Given the description of an element on the screen output the (x, y) to click on. 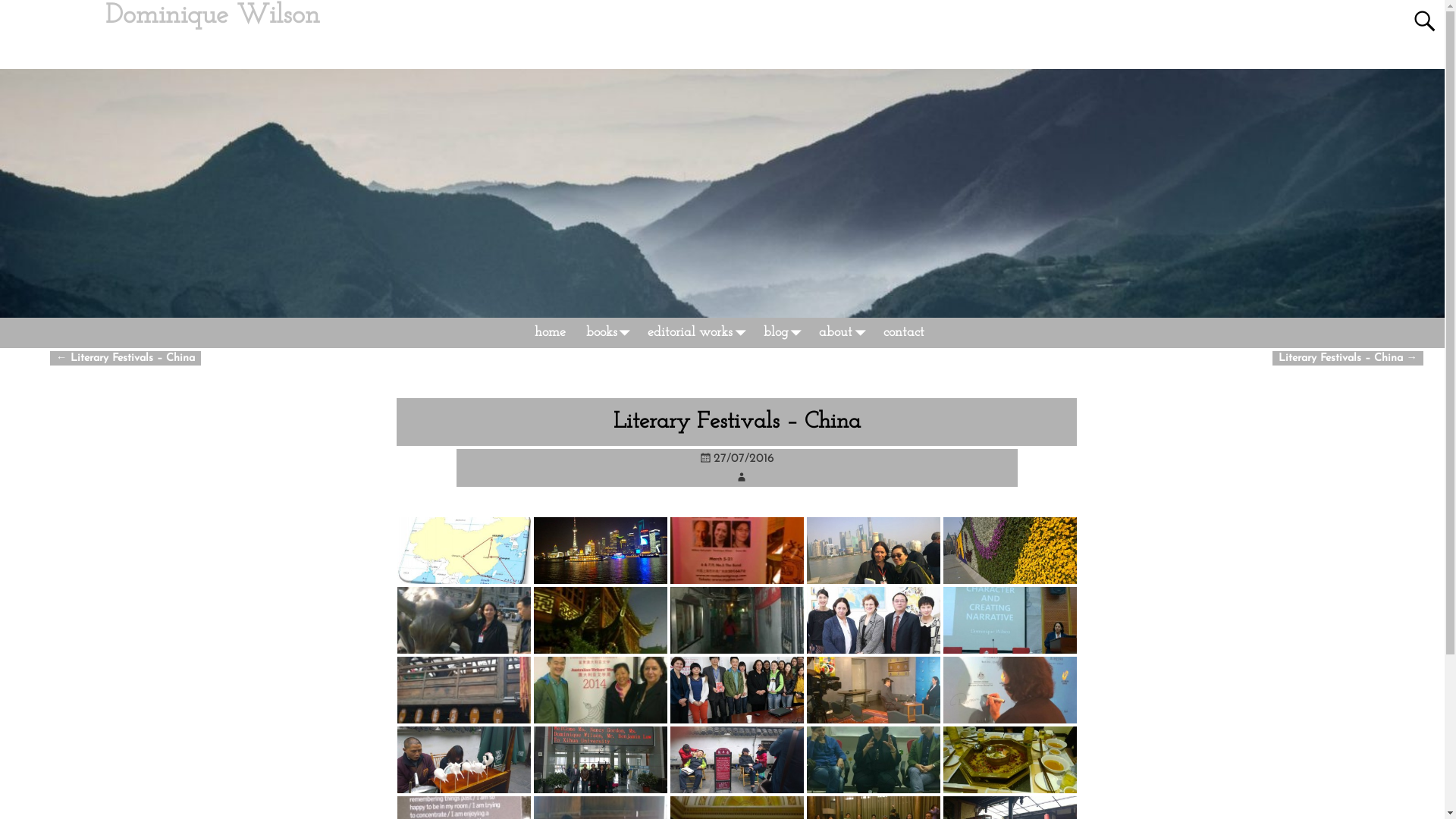
27/07/2016 Element type: text (737, 458)
editorial works Element type: text (695, 332)
blog Element type: text (781, 332)
contact Element type: text (903, 332)
home Element type: text (549, 332)
about Element type: text (840, 332)
books Element type: text (606, 332)
Dominique Wilson Element type: text (211, 15)
